Given the description of an element on the screen output the (x, y) to click on. 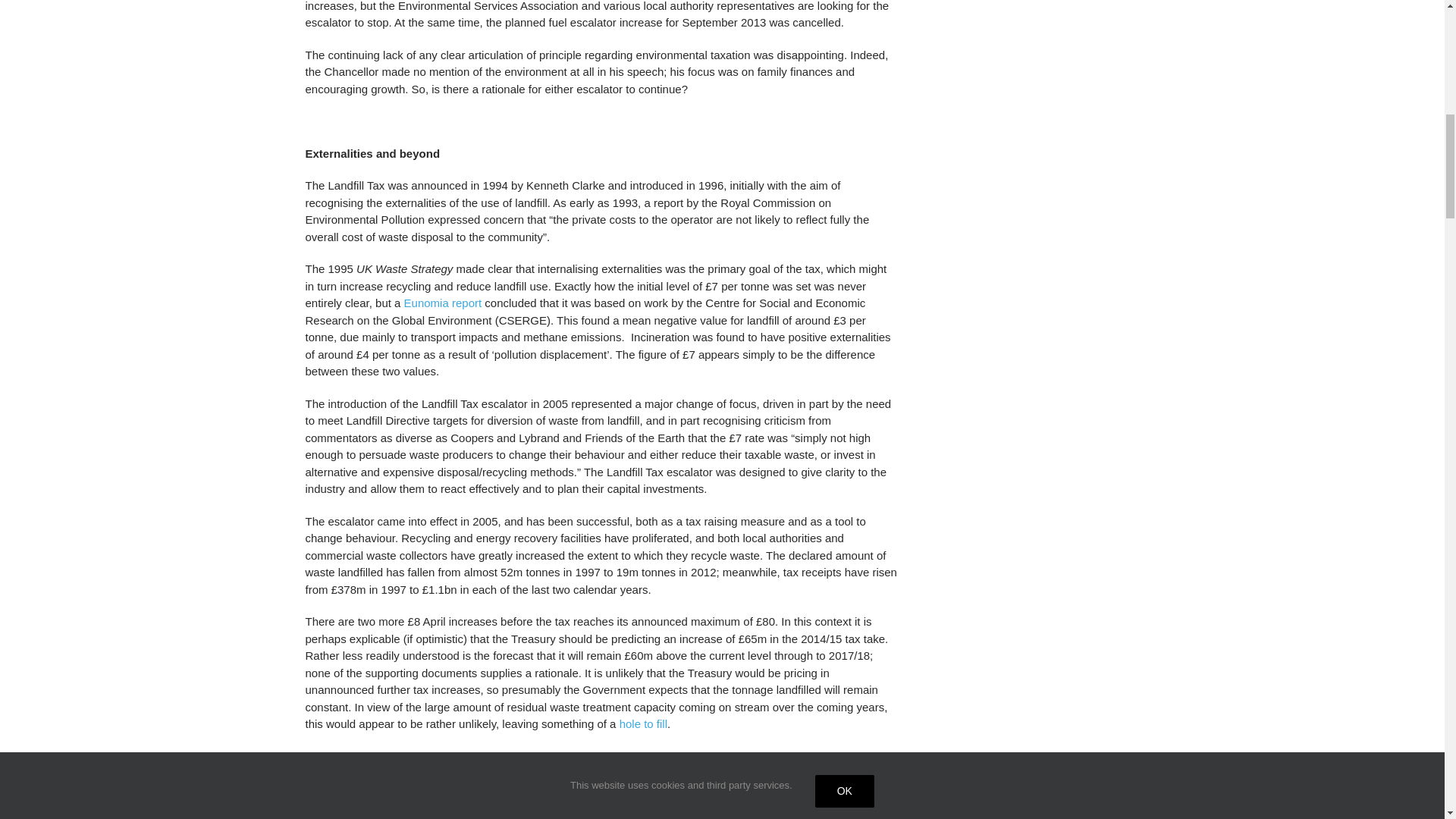
Westminster escalator (405, 799)
Westminster escalator (405, 788)
